Given the description of an element on the screen output the (x, y) to click on. 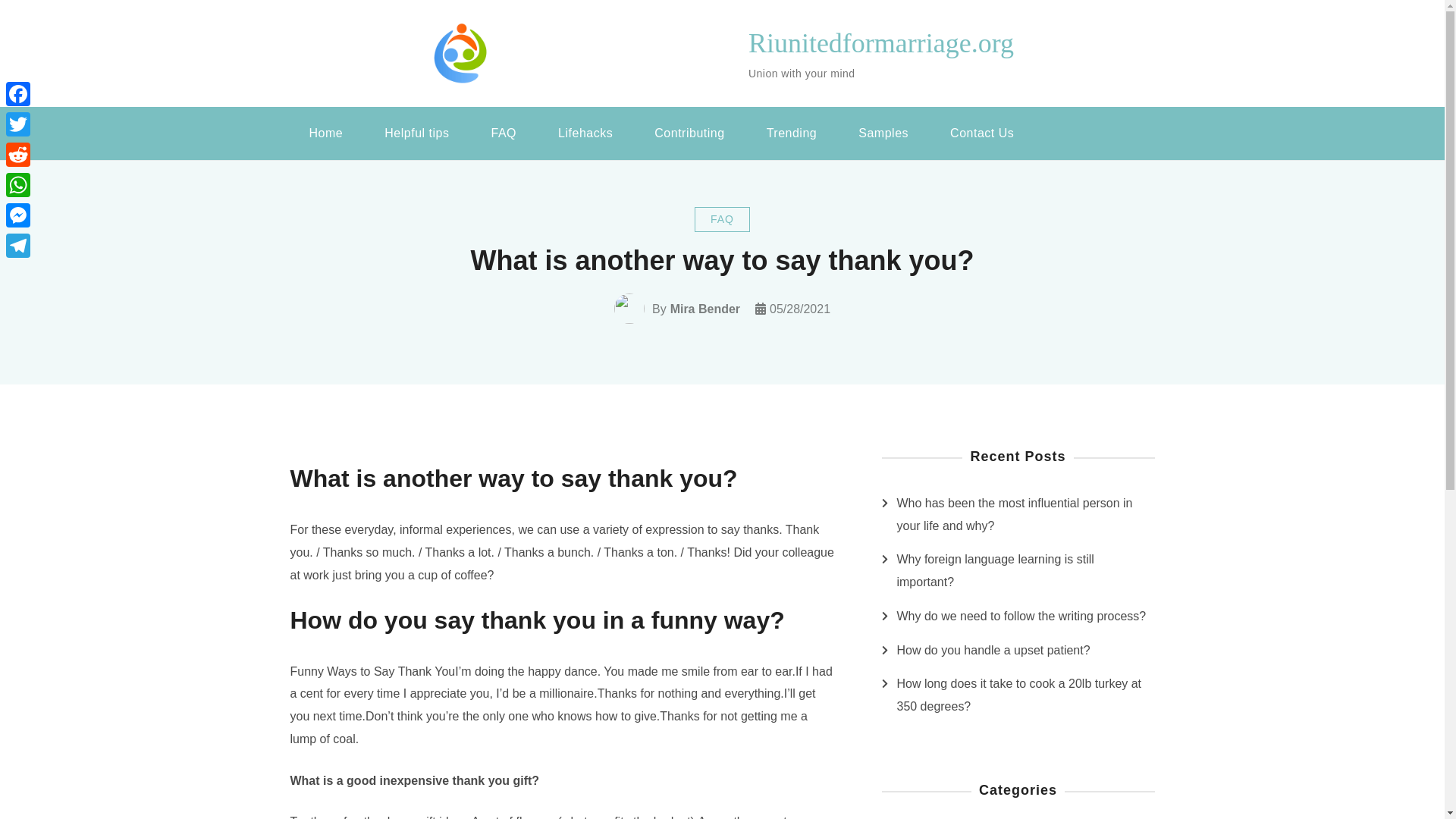
Mira Bender (704, 308)
Twitter (17, 123)
Home (325, 133)
Reddit (17, 154)
How do you handle a upset patient? (992, 650)
Contact Us (981, 133)
Riunitedformarriage.org (880, 42)
Trending (791, 133)
Facebook (17, 93)
Helpful tips (416, 133)
FAQ (503, 133)
Samples (883, 133)
Telegram (17, 245)
Messenger (17, 214)
